Given the description of an element on the screen output the (x, y) to click on. 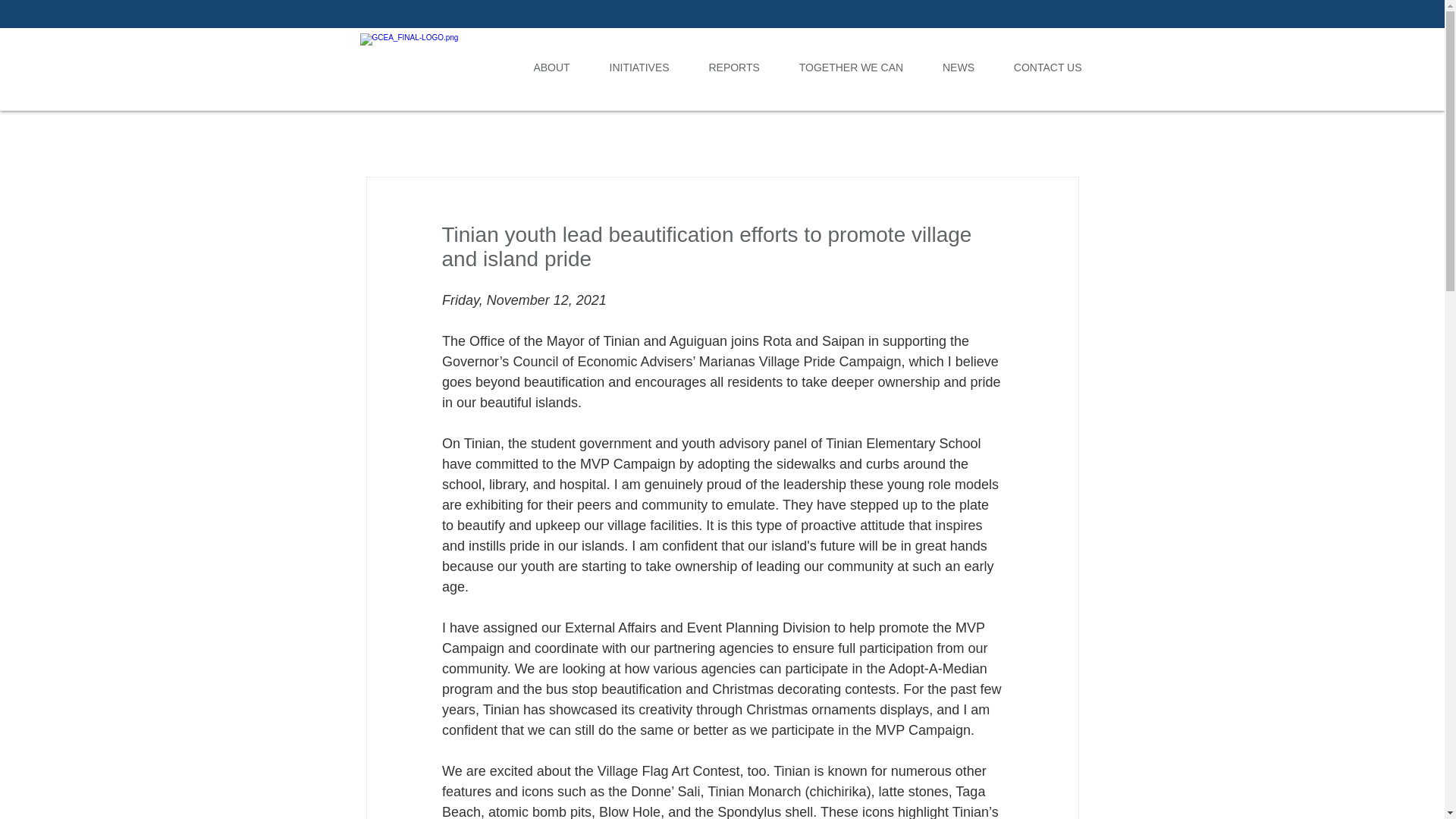
REPORTS (734, 67)
CONTACT US (1048, 67)
INITIATIVES (638, 67)
